Given the description of an element on the screen output the (x, y) to click on. 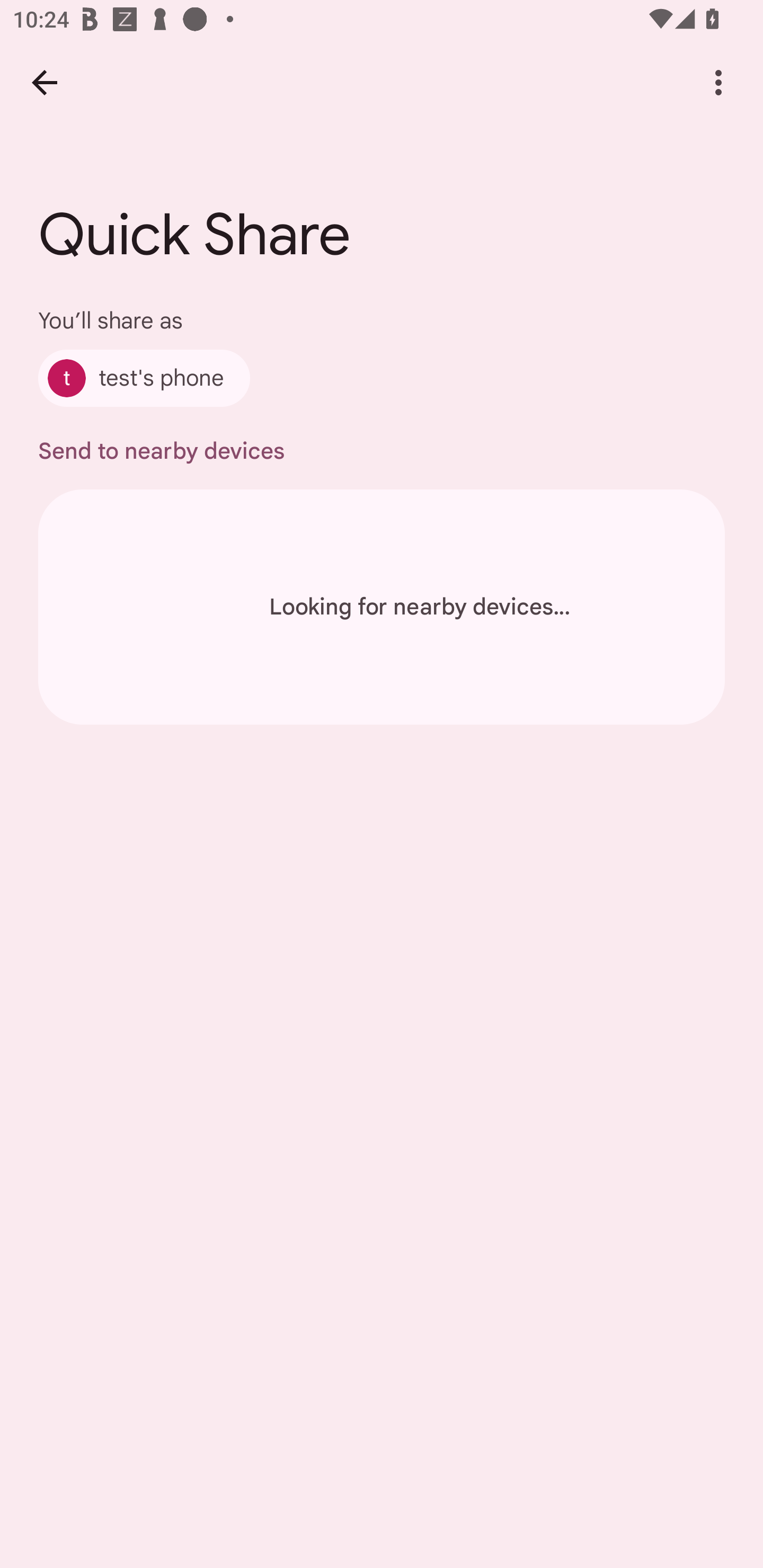
Back (44, 81)
More (718, 81)
test's phone (144, 378)
